Given the description of an element on the screen output the (x, y) to click on. 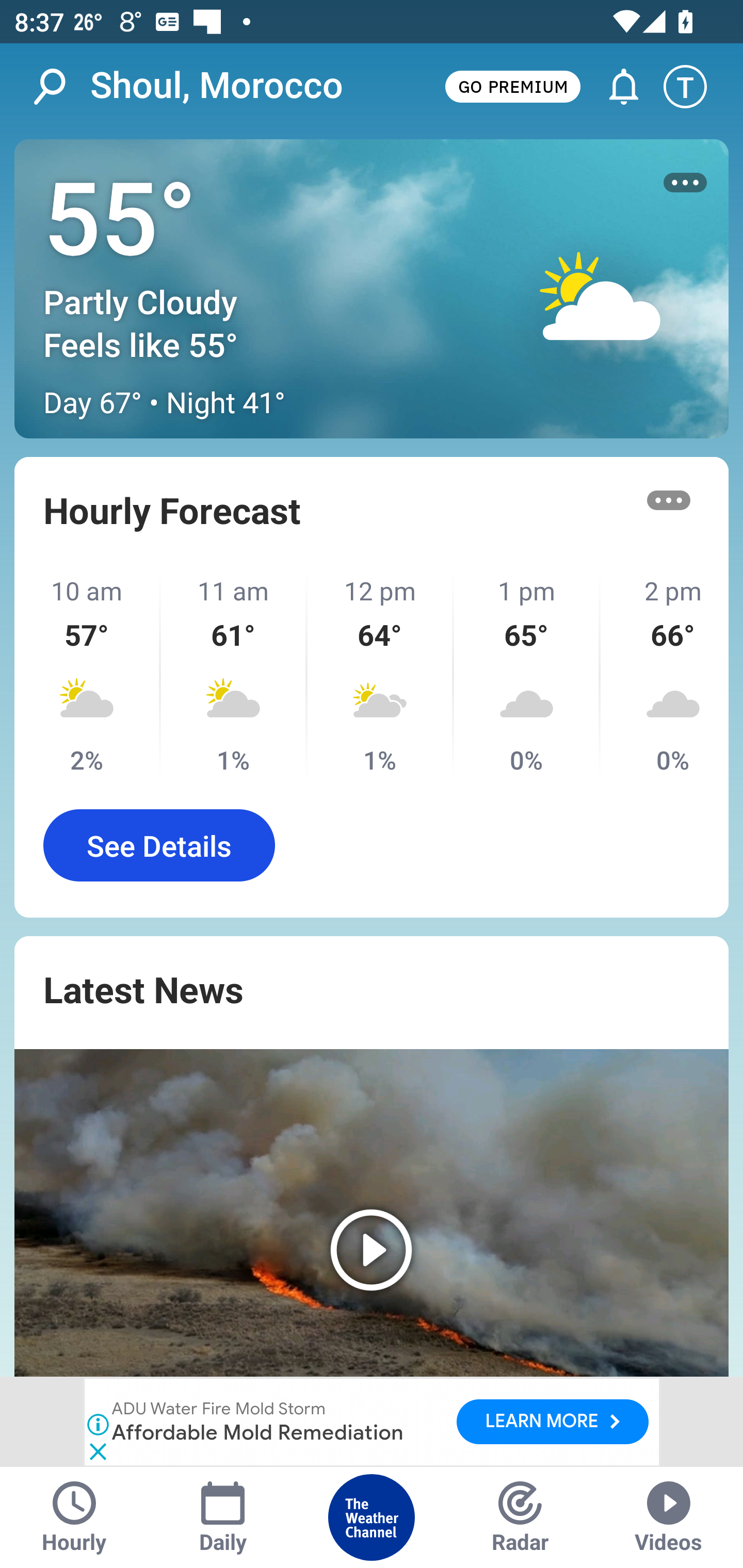
Search (59, 86)
Go to Alerts and Notifications (614, 86)
Setting icon T (694, 86)
Shoul, Morocco (216, 85)
GO PREMIUM (512, 85)
More options (684, 182)
More options (668, 500)
10 am 57° 2% (87, 674)
11 am 61° 1% (234, 674)
12 pm 64° 1% (380, 674)
1 pm 65° 0% (526, 674)
2 pm 66° 0% (664, 674)
See Details (158, 845)
Play (371, 1212)
ADU Water Fire Mold Storm (218, 1410)
LEARN MORE (551, 1421)
Affordable Mold Remediation (258, 1432)
Hourly Tab Hourly (74, 1517)
Daily Tab Daily (222, 1517)
Radar Tab Radar (519, 1517)
Videos Tab Videos (668, 1517)
